Given the description of an element on the screen output the (x, y) to click on. 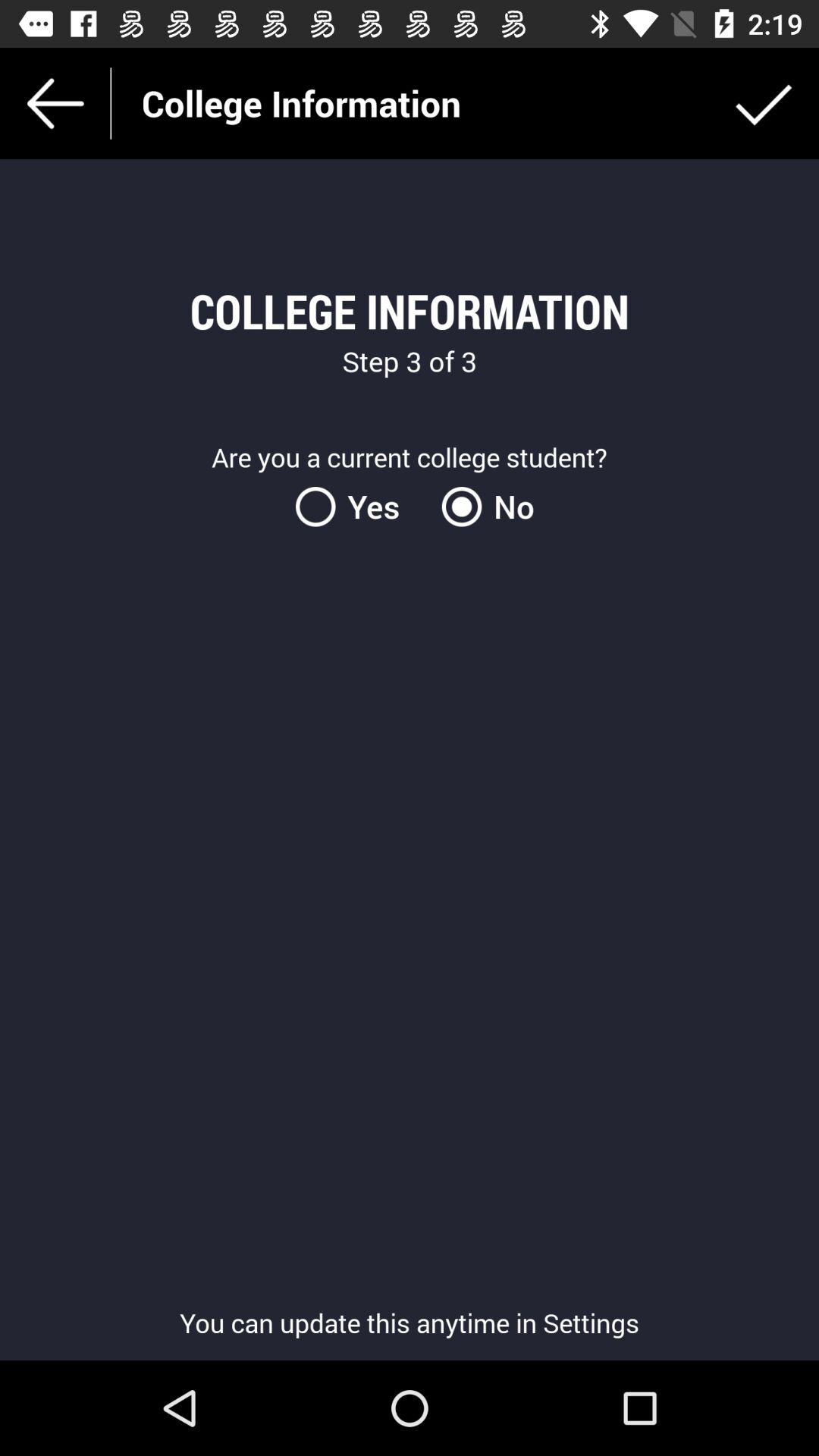
press icon to the right of the college information icon (763, 103)
